Given the description of an element on the screen output the (x, y) to click on. 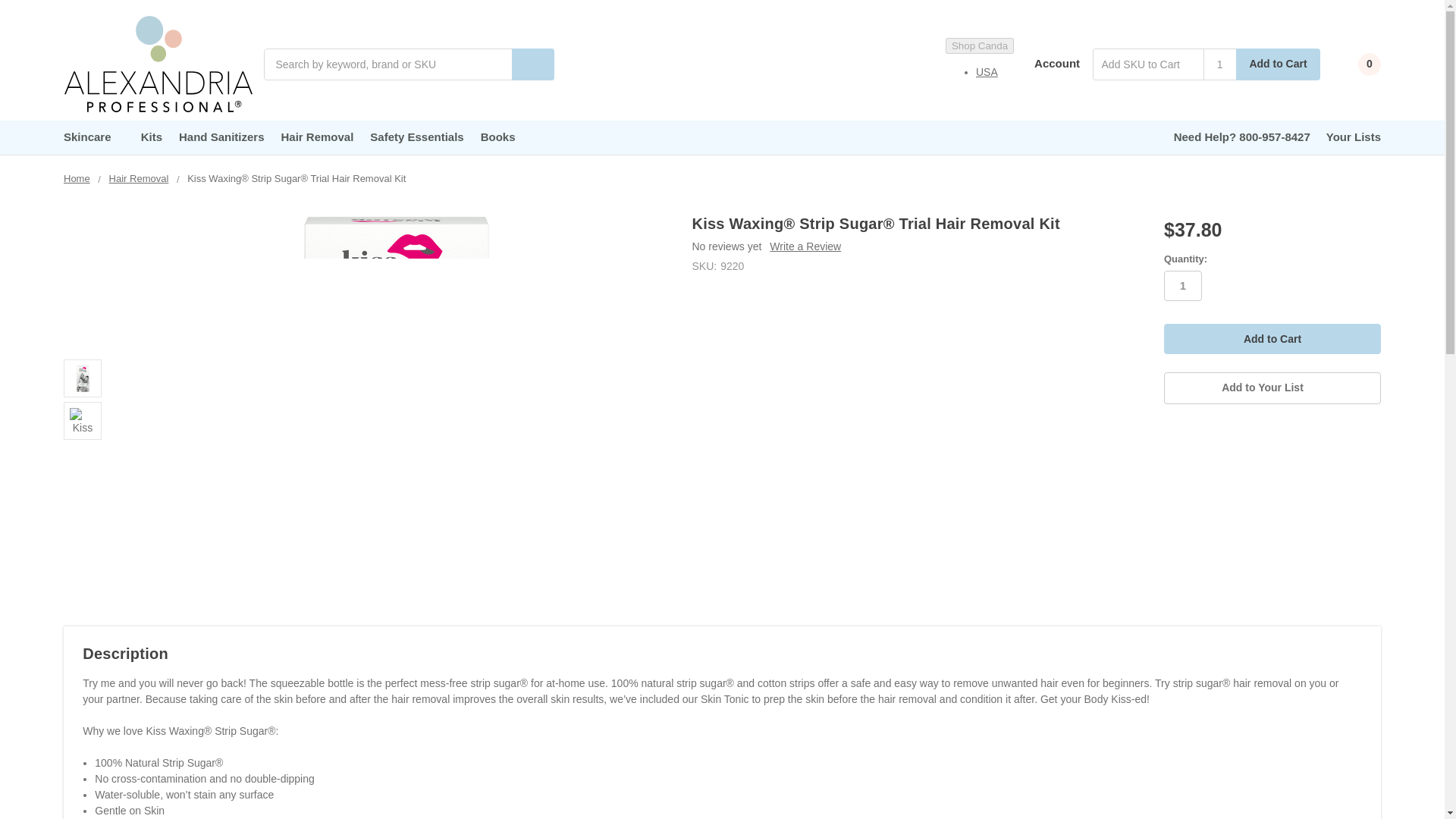
Books (497, 136)
Add to Cart (1271, 338)
Kits (151, 136)
Account (1046, 63)
USA (986, 71)
Your Lists (1353, 136)
Alexandria Professional CA (157, 63)
1 (1220, 64)
Add to Cart (1271, 338)
Need Help? 800-957-8427 (1241, 136)
